Given the description of an element on the screen output the (x, y) to click on. 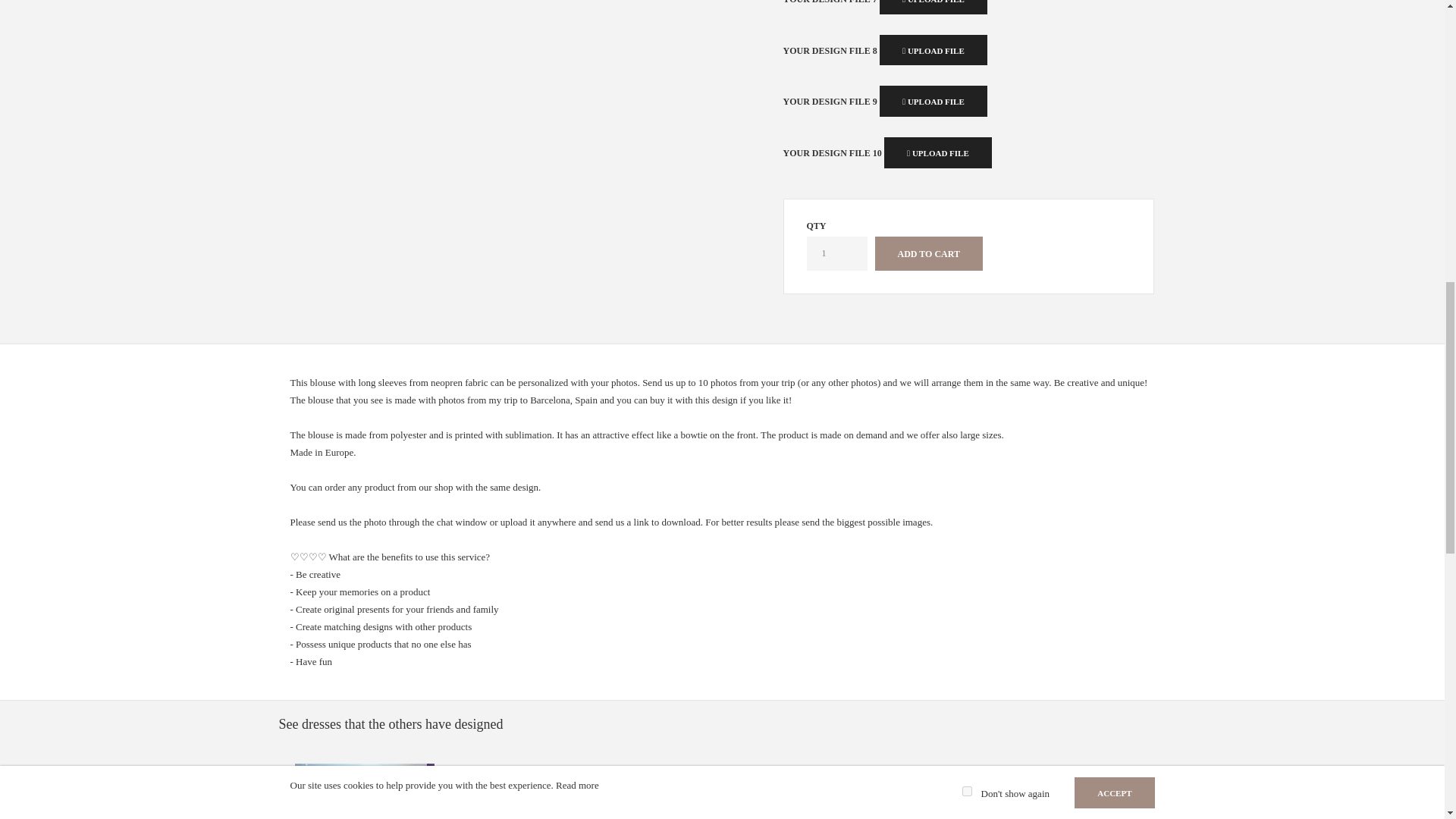
UPLOAD FILE (933, 50)
1 (836, 253)
UPLOAD FILE (937, 152)
Add to Cart (928, 253)
UPLOAD FILE (933, 101)
UPLOAD FILE (933, 7)
